Given the description of an element on the screen output the (x, y) to click on. 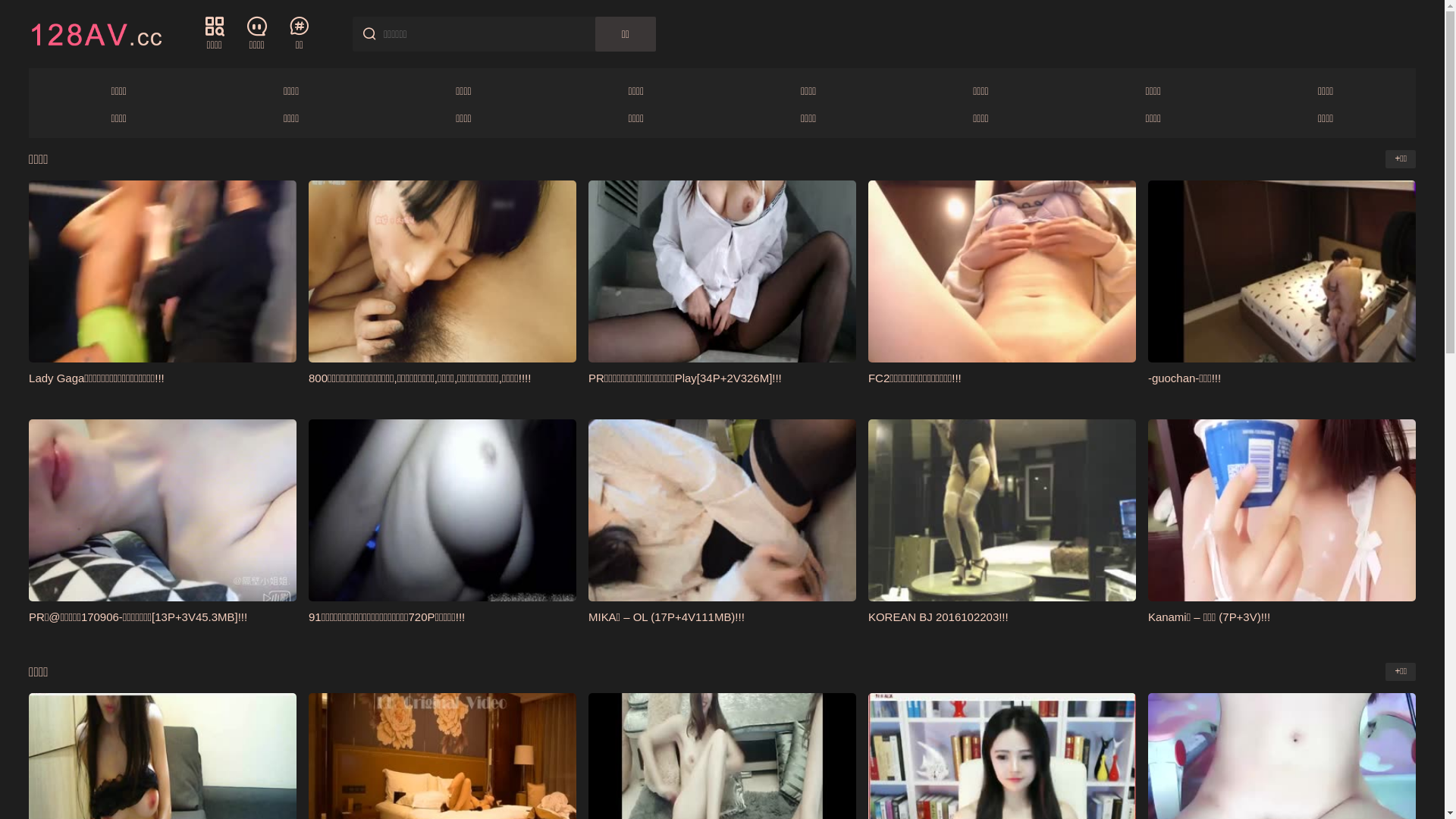
KOREAN BJ 2016102203!!! Element type: text (938, 616)
KOREAN BJ 2016102203!!! Element type: hover (1001, 510)
128AV Element type: hover (94, 33)
